Given the description of an element on the screen output the (x, y) to click on. 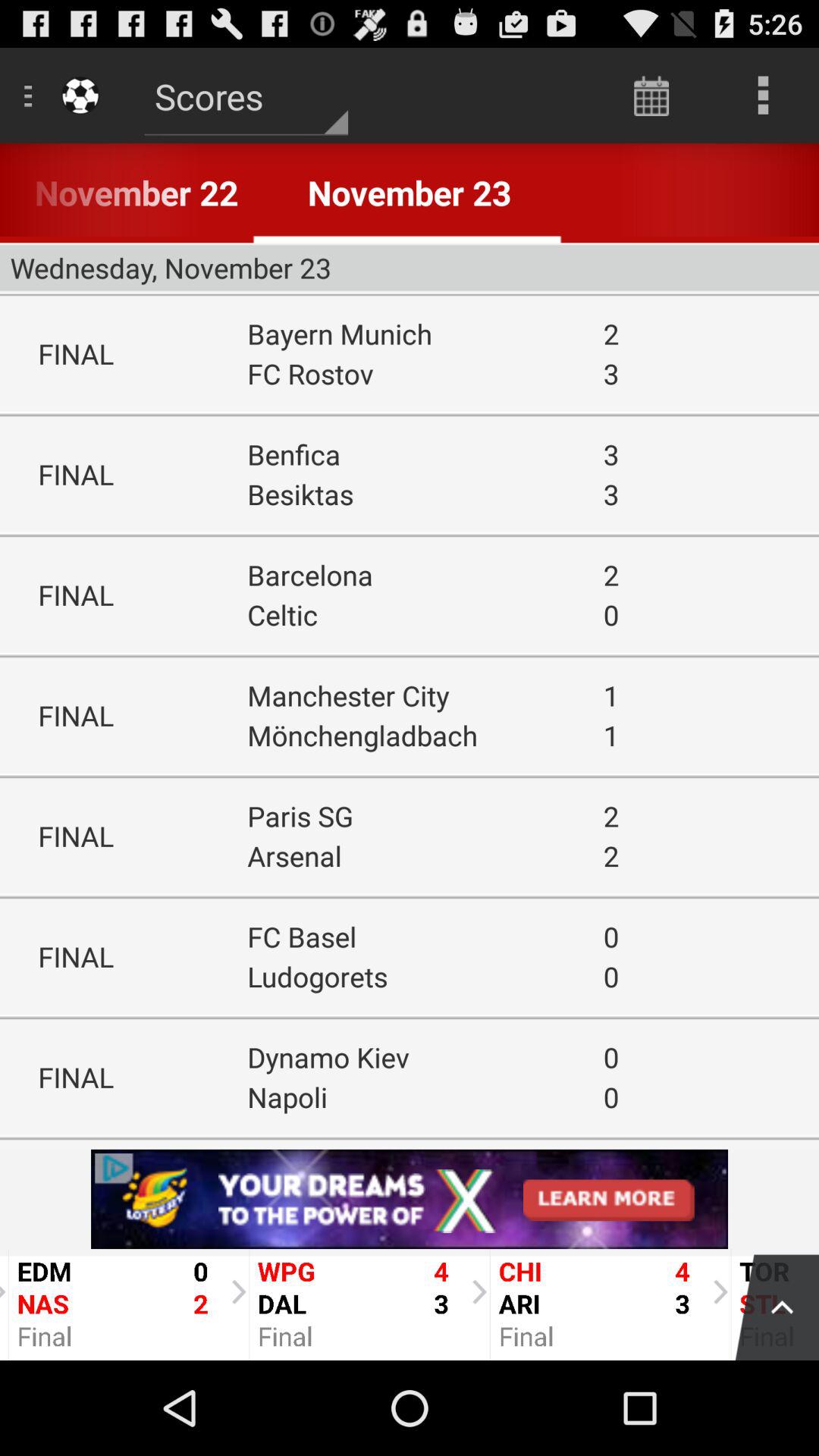
advertisement banner would take off site (409, 1198)
